Given the description of an element on the screen output the (x, y) to click on. 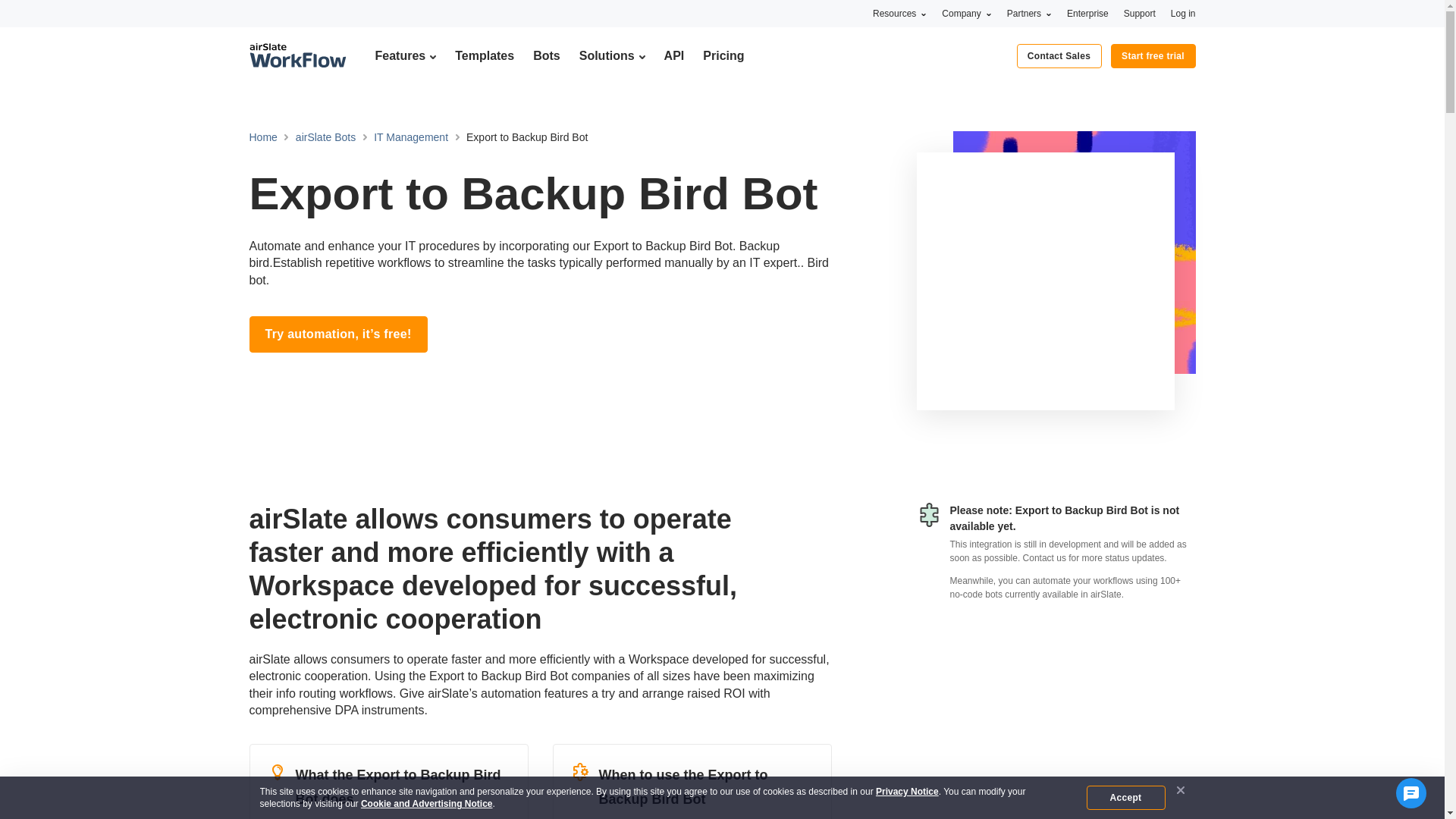
Company (966, 13)
Templates (483, 55)
Log in (1182, 13)
Support (1140, 13)
Enterprise (1087, 13)
Partners (1029, 13)
Resources (899, 13)
